Given the description of an element on the screen output the (x, y) to click on. 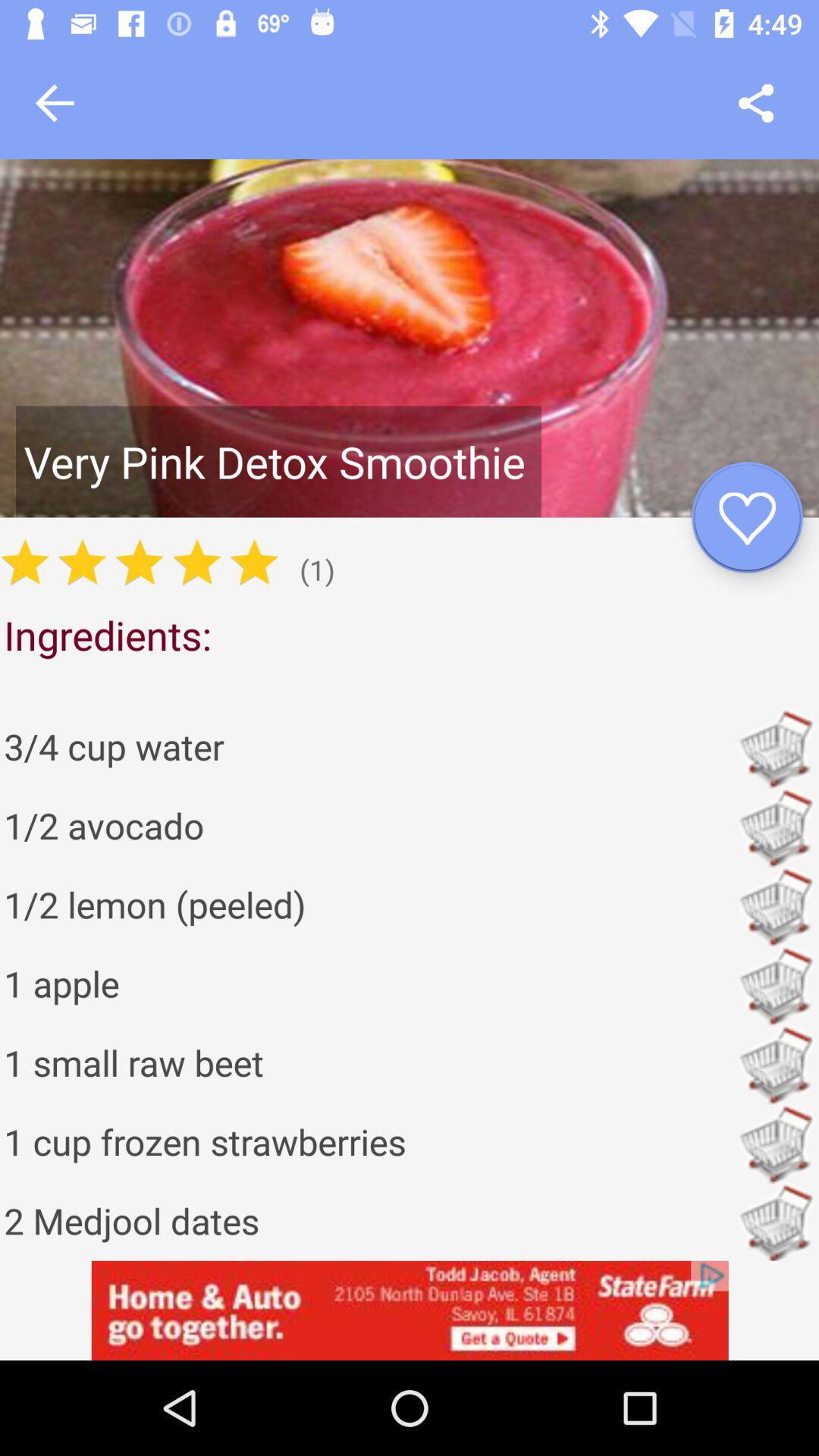
share (756, 103)
